Given the description of an element on the screen output the (x, y) to click on. 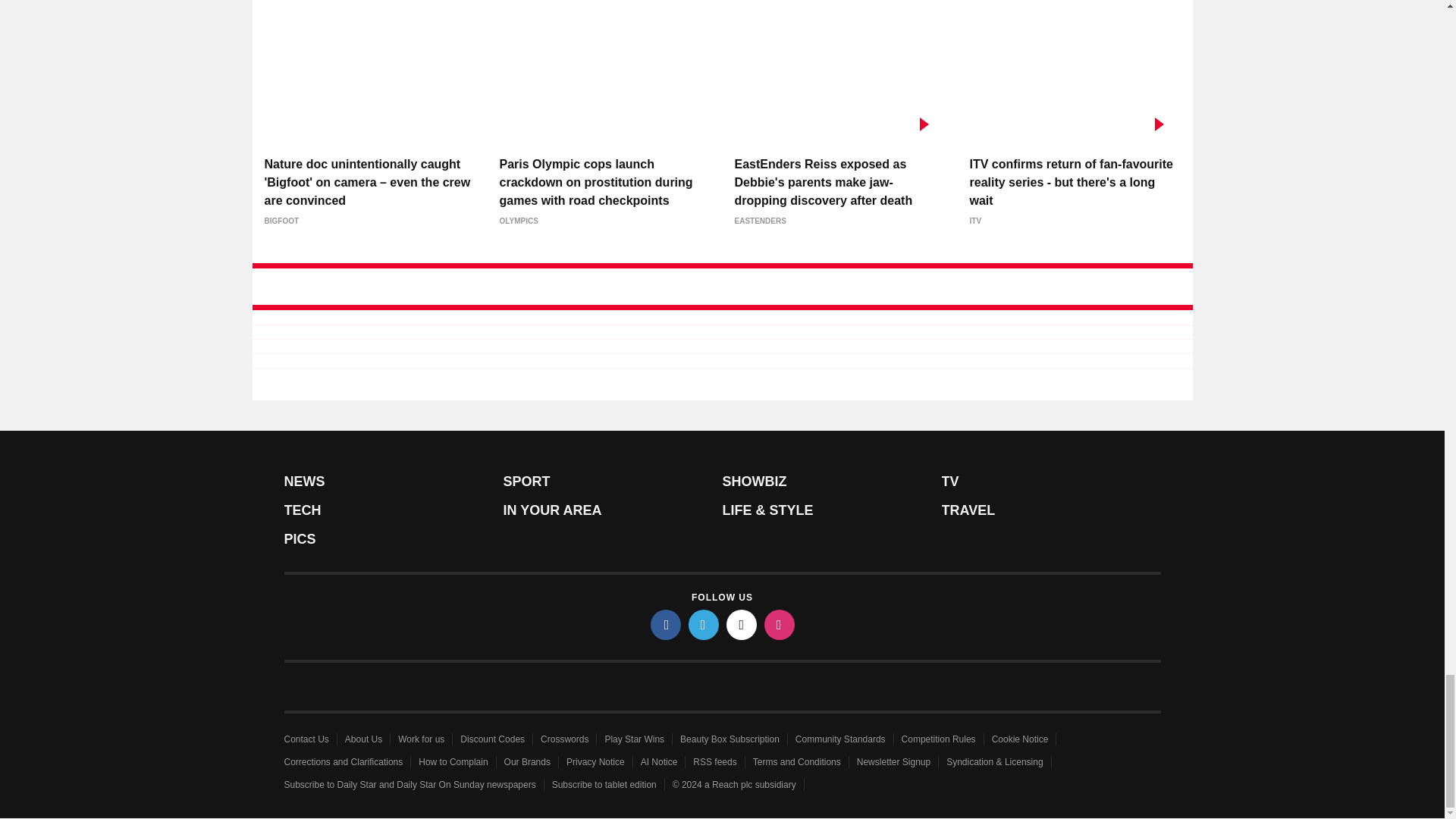
instagram (779, 624)
facebook (665, 624)
twitter (703, 624)
tiktok (741, 624)
